Given the description of an element on the screen output the (x, y) to click on. 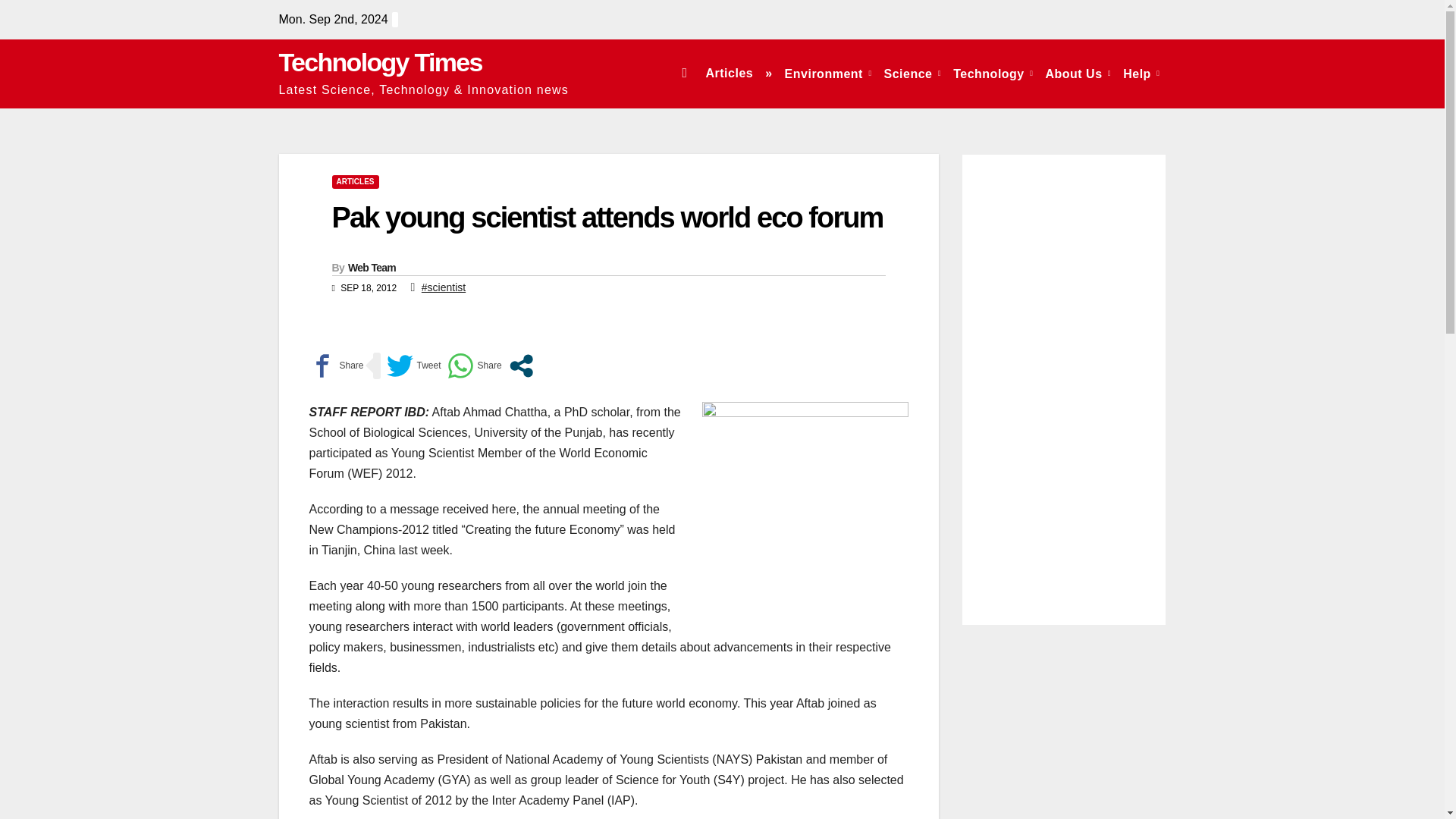
Science (912, 73)
Environment (827, 73)
Technology (993, 73)
Science (912, 73)
Technology Times (380, 61)
About Us (1077, 73)
Technology (993, 73)
Environment (827, 73)
